Given the description of an element on the screen output the (x, y) to click on. 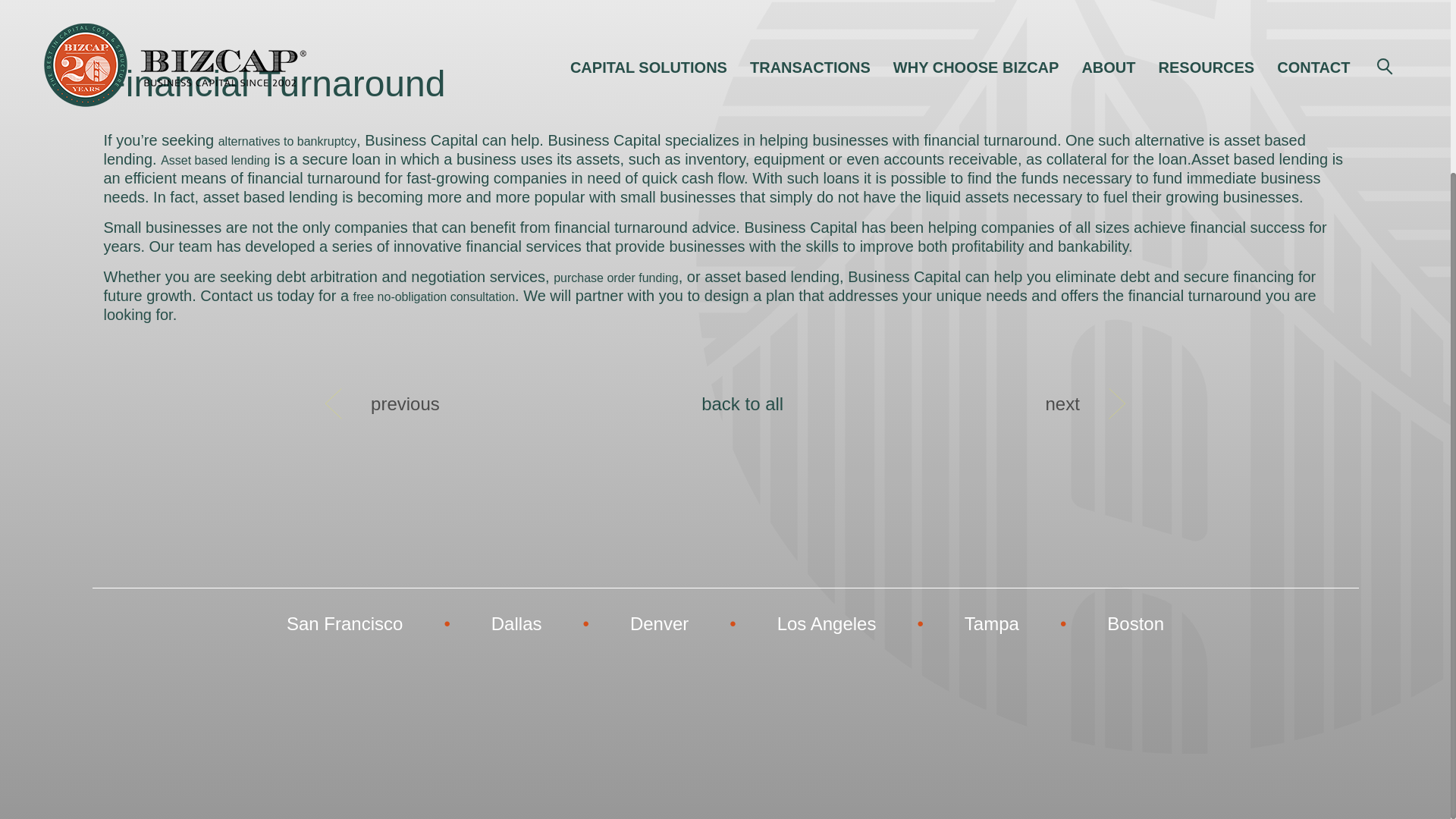
Purchase Order Funding (615, 277)
alternatives to bankruptcy (287, 141)
next (1061, 403)
free no-obligation consultation (434, 296)
purchase order funding (615, 277)
Asset based lending (214, 160)
back to all (742, 403)
previous (405, 403)
